Given the description of an element on the screen output the (x, y) to click on. 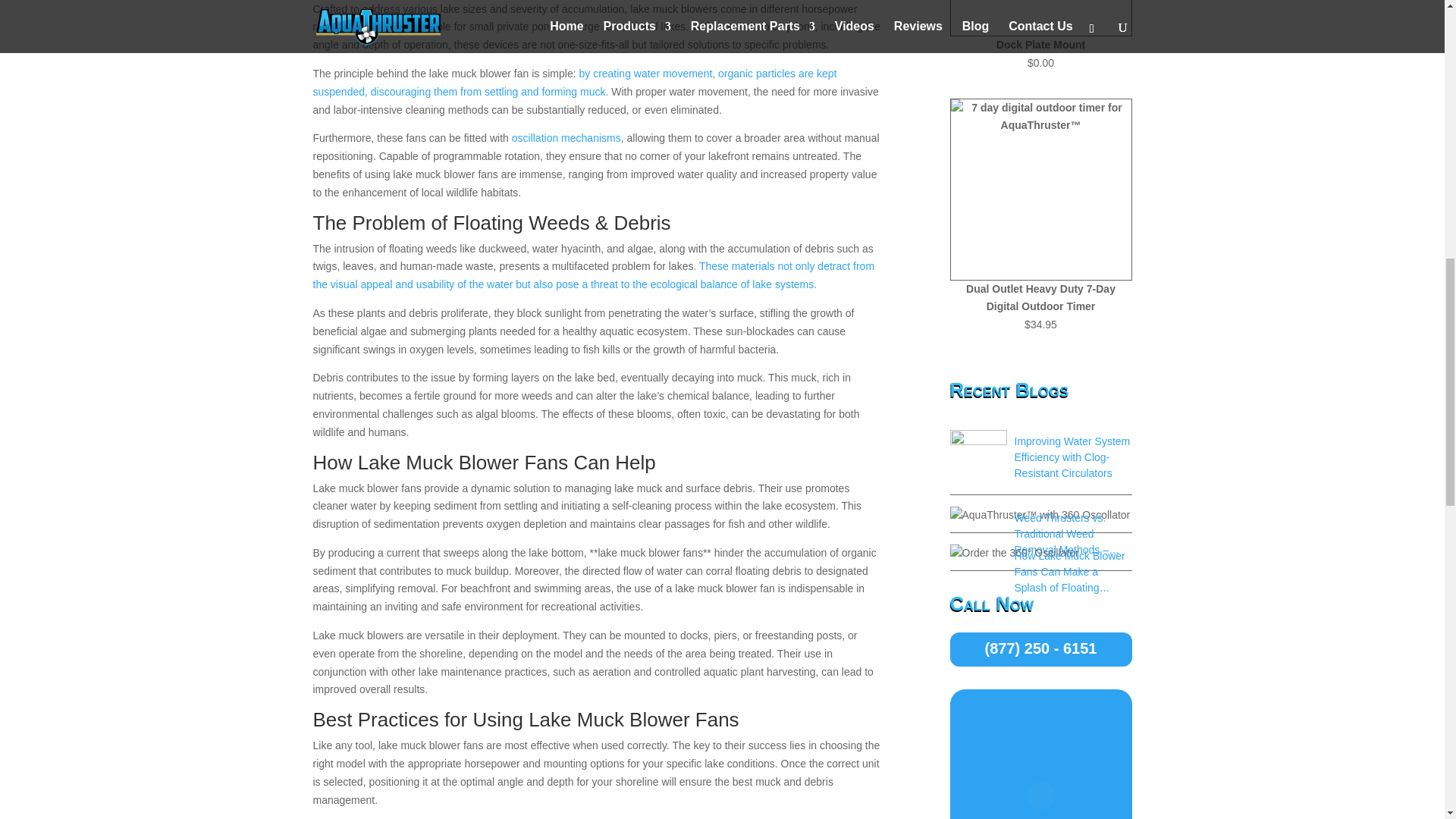
Dock Plate Mount (1040, 27)
oscillation mechanisms (566, 137)
